Given the description of an element on the screen output the (x, y) to click on. 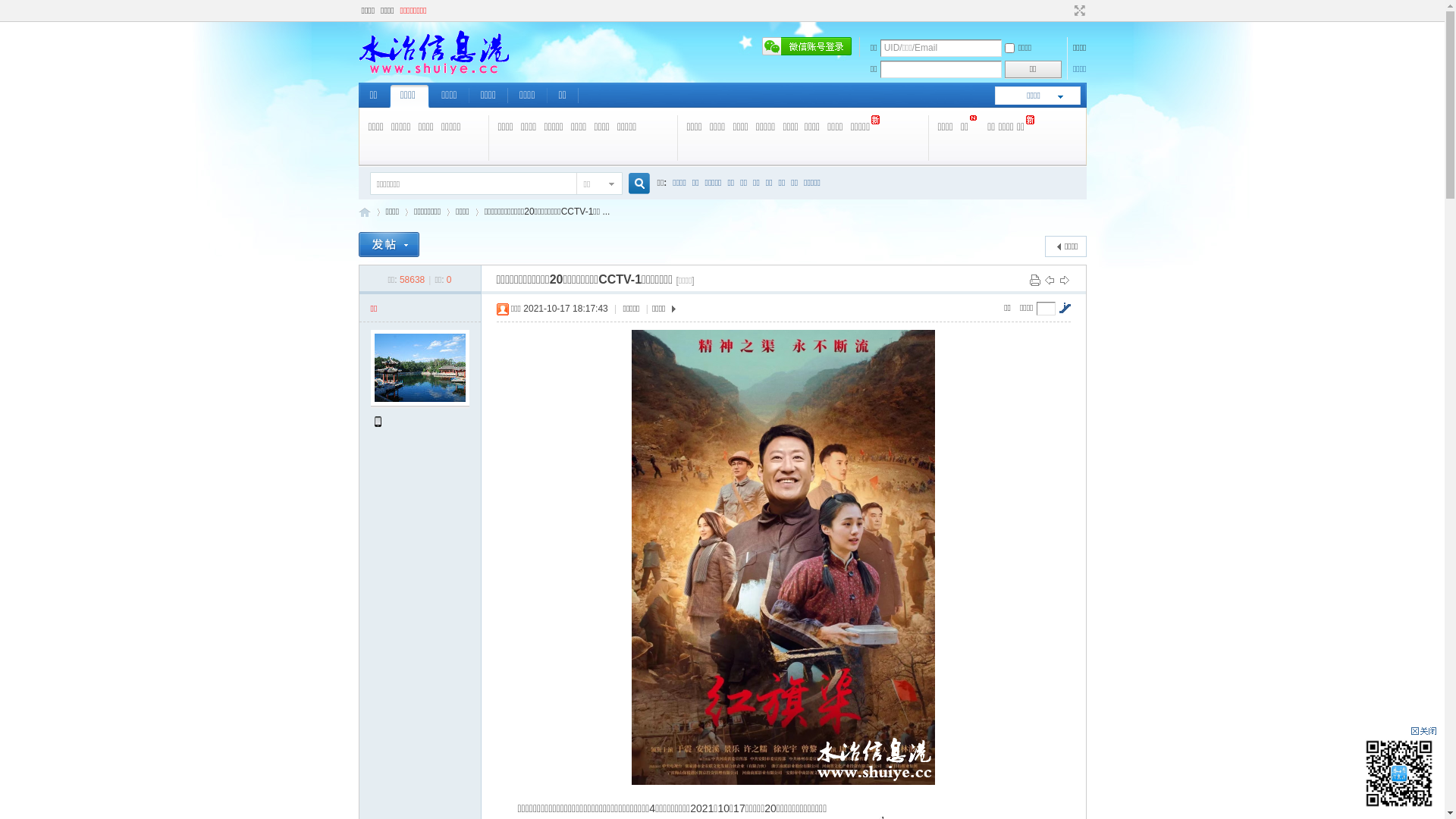
true Element type: text (632, 183)
